Given the description of an element on the screen output the (x, y) to click on. 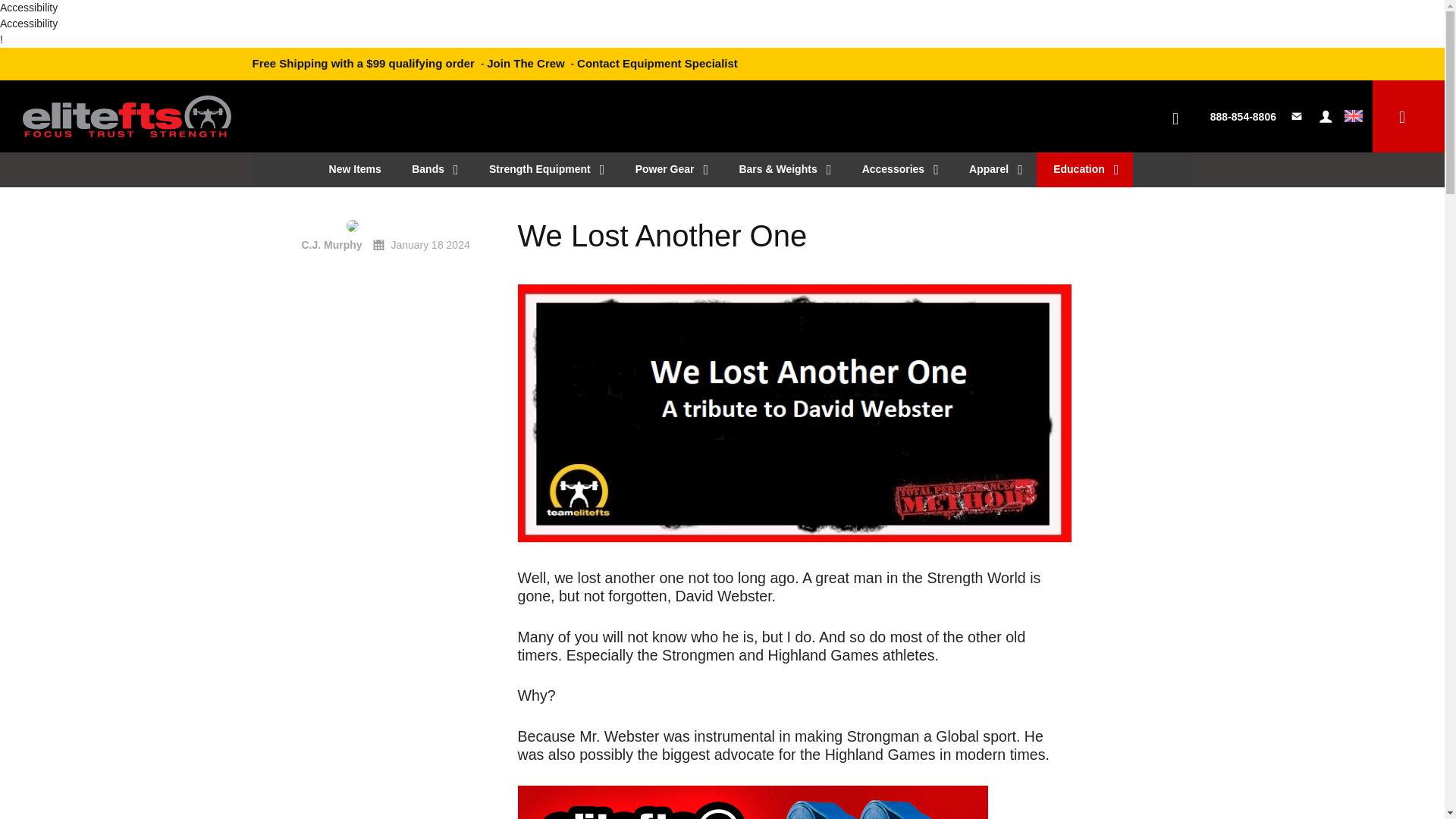
Join The Crew (525, 62)
We Lost Another One (793, 235)
New Items (352, 168)
login - create account (1325, 116)
email us (1297, 116)
Visit EliteFTS - UK (1352, 116)
EliteFTS (127, 109)
Bands (432, 168)
Contact Equipment Specialist (657, 62)
